Given the description of an element on the screen output the (x, y) to click on. 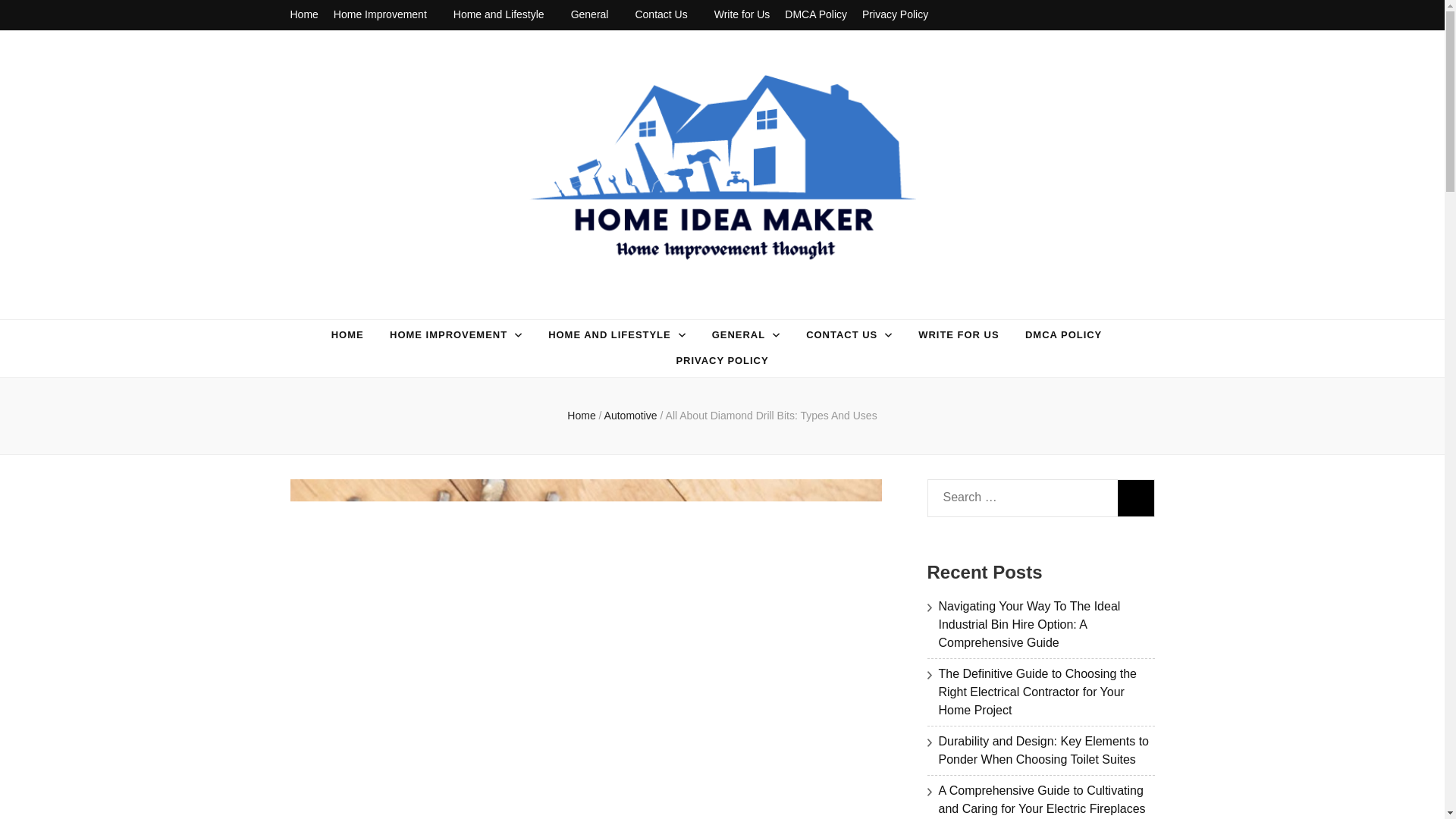
HOME (347, 335)
Privacy Policy (894, 15)
Home Improvement (385, 15)
Home and Lifestyle (504, 15)
HOME IMPROVEMENT (448, 335)
General (595, 15)
Search (1136, 497)
DMCA Policy (815, 15)
Write for Us (742, 15)
Contact Us (666, 15)
